Given the description of an element on the screen output the (x, y) to click on. 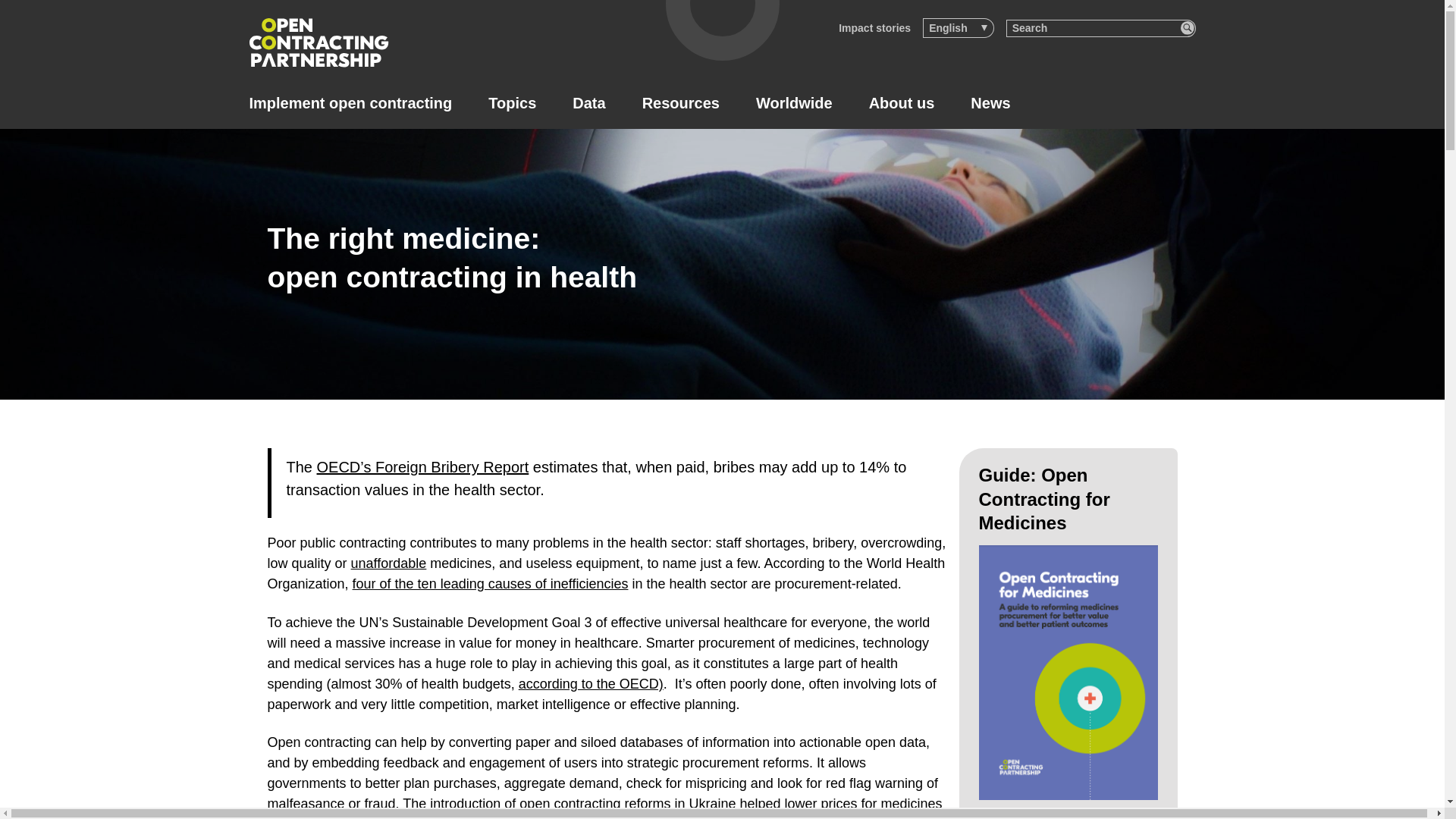
Implement open contracting (349, 103)
Topics (511, 103)
